Given the description of an element on the screen output the (x, y) to click on. 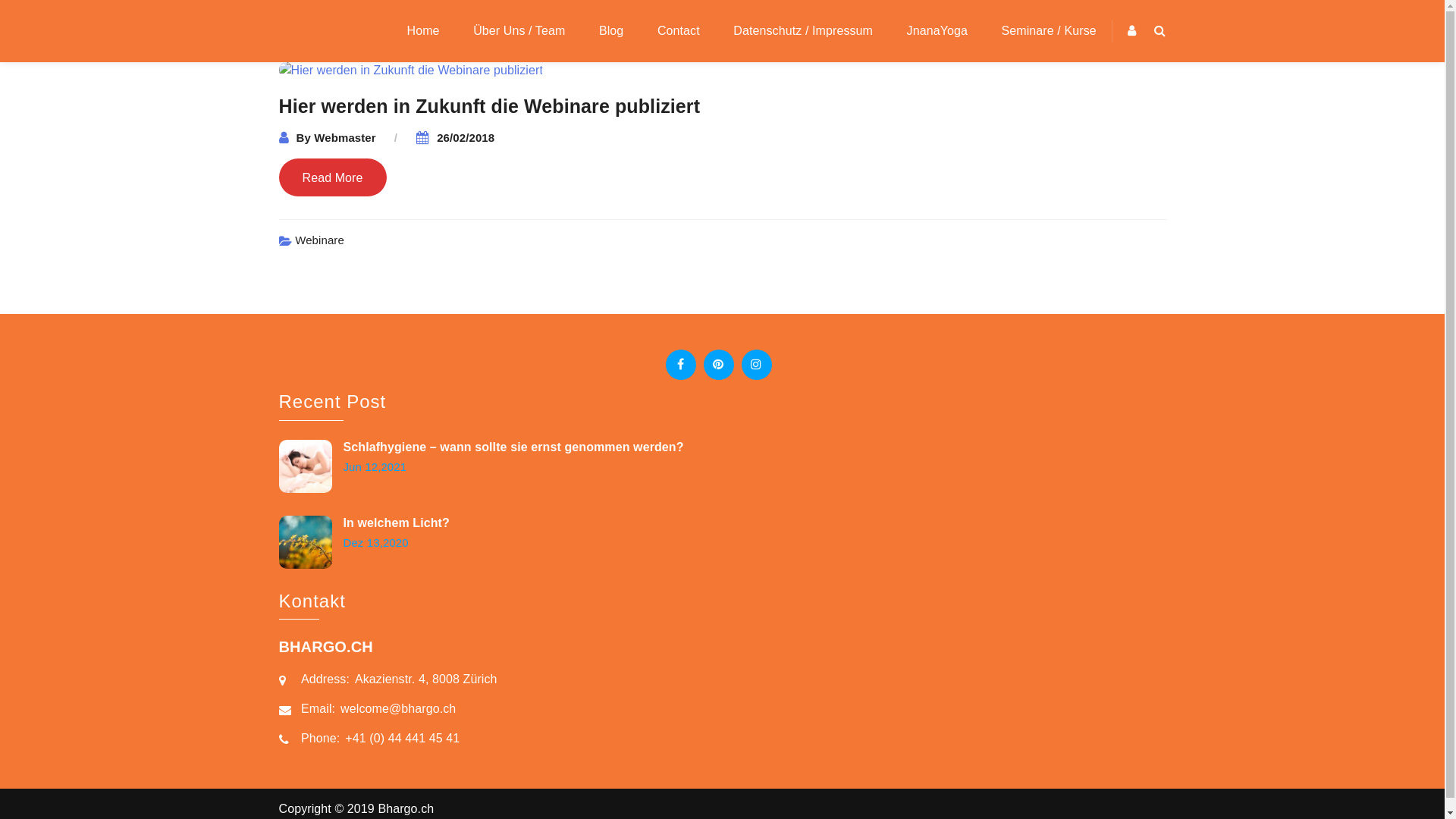
Webinare Element type: text (319, 240)
Contact Element type: text (678, 30)
Hier werden in Zukunft die Webinare publiziert Element type: text (489, 105)
JnanaYoga Element type: text (936, 30)
Webmaster Element type: text (344, 137)
Read More Element type: text (332, 177)
In welchem Licht? Element type: text (395, 522)
Datenschutz / Impressum Element type: text (803, 30)
26/02/2018 Element type: text (465, 137)
Home Element type: text (422, 30)
Blog Element type: text (610, 30)
Seminare / Kurse Element type: text (1041, 30)
